Given the description of an element on the screen output the (x, y) to click on. 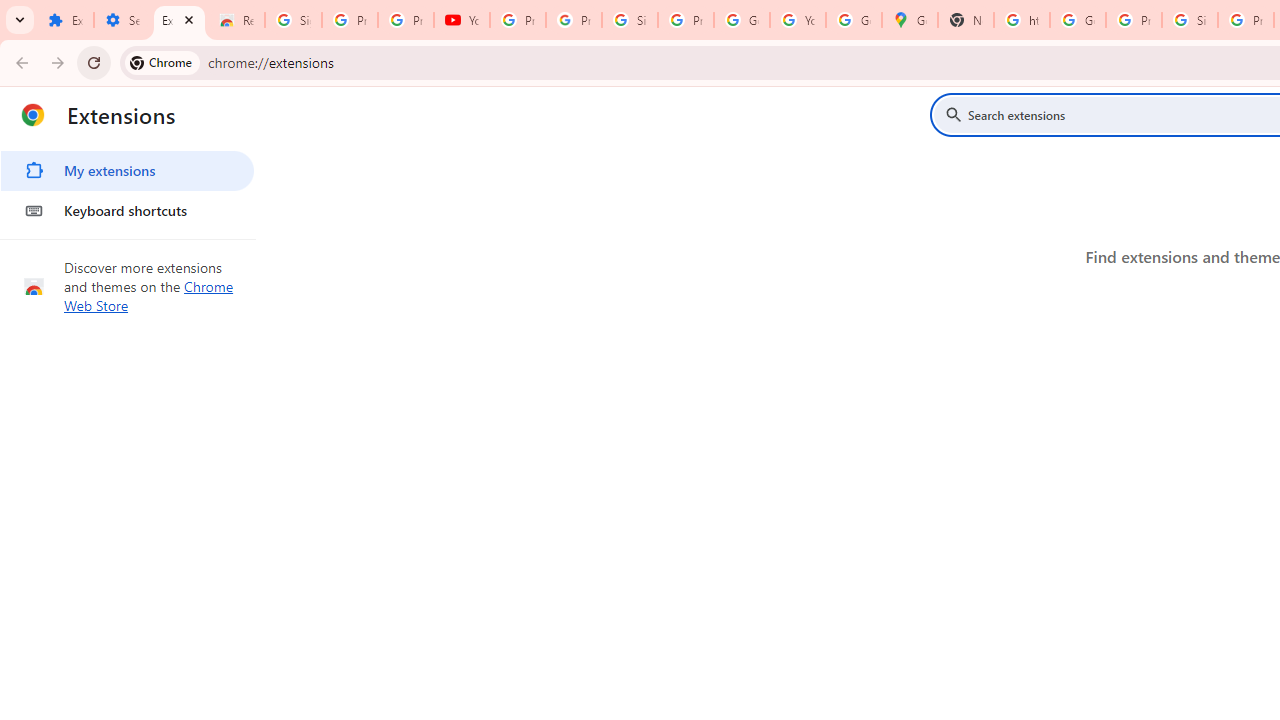
Google Maps (909, 20)
My extensions (127, 170)
YouTube (461, 20)
